Given the description of an element on the screen output the (x, y) to click on. 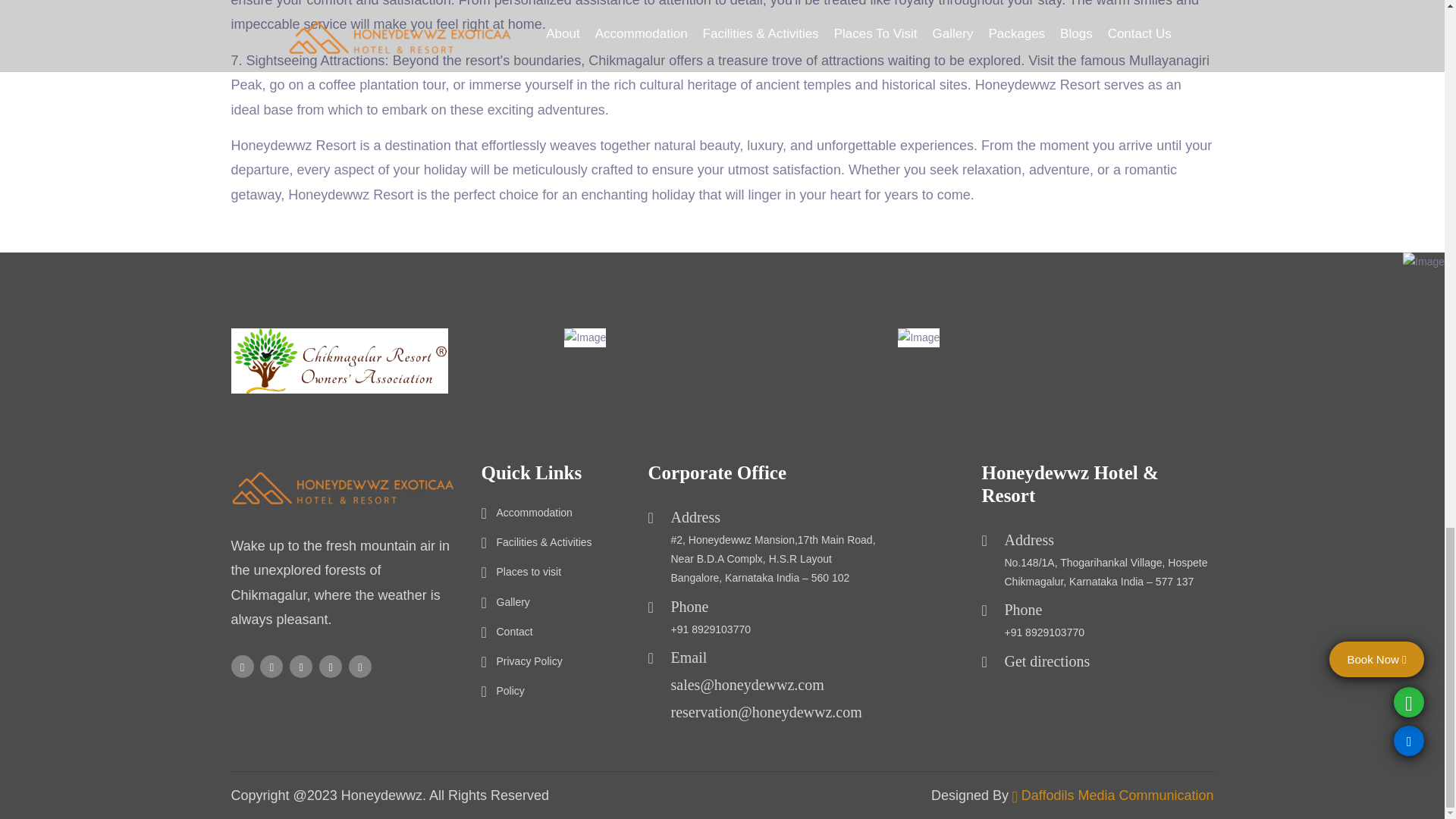
Privacy Policy (521, 660)
Gallery (504, 601)
Daffodils Media Communication (1118, 794)
Places to visit (520, 571)
Contact (506, 631)
Honeydewwz (381, 794)
Policy (502, 691)
Accommodation (526, 512)
Get directions (1046, 660)
